Given the description of an element on the screen output the (x, y) to click on. 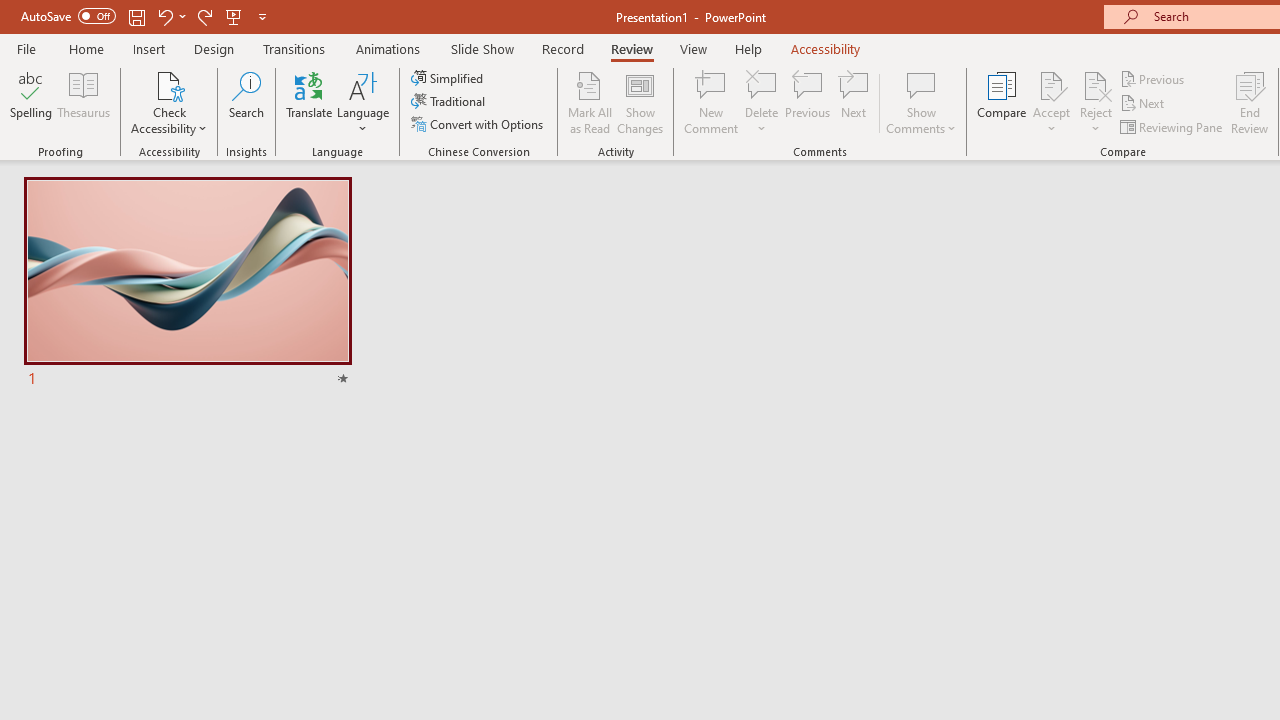
Traditional (449, 101)
Simplified (449, 78)
End Review (1249, 102)
Spelling... (31, 102)
New Comment (711, 102)
